Given the description of an element on the screen output the (x, y) to click on. 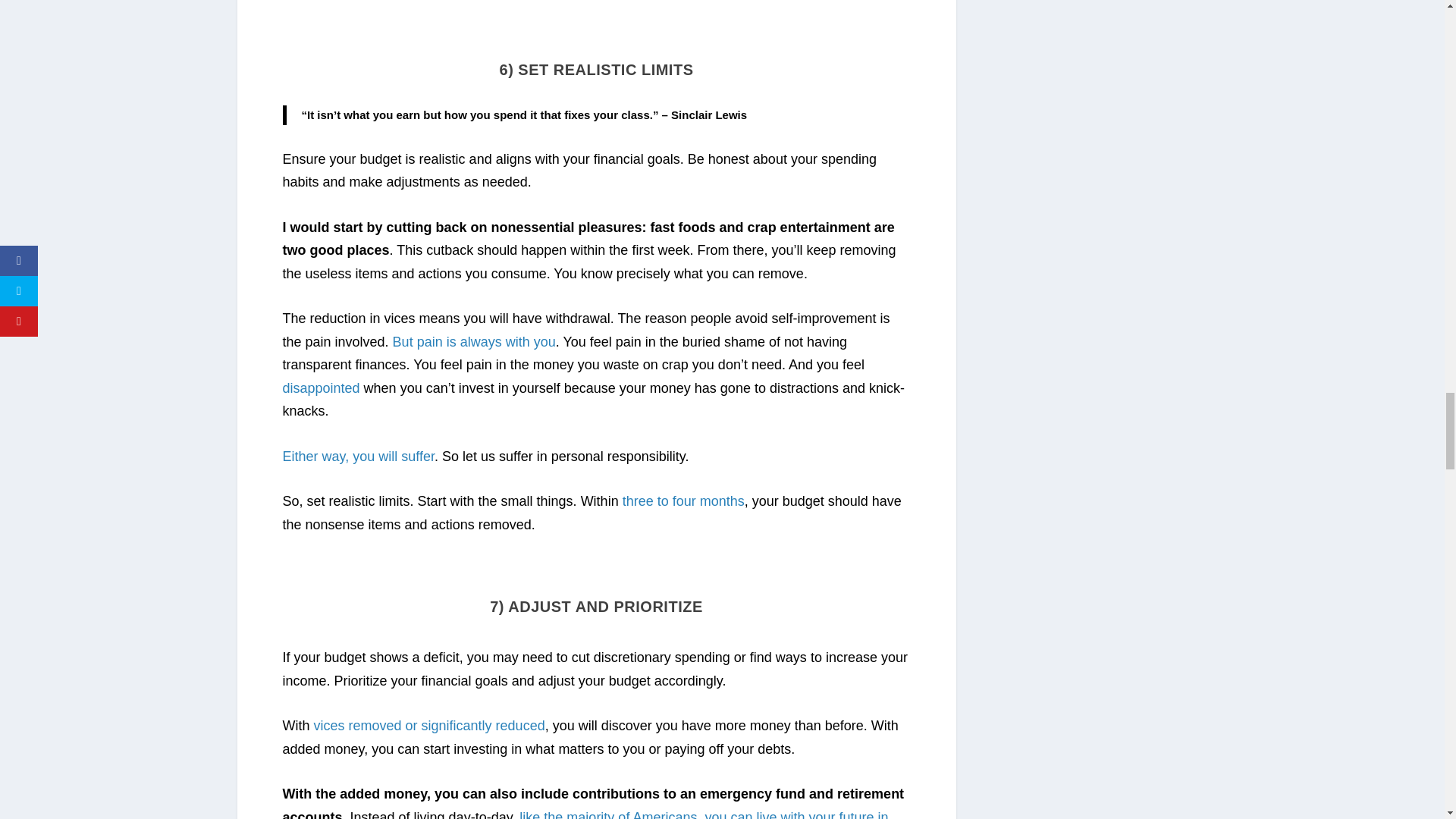
three to four months (683, 500)
But pain is always with you (474, 341)
like the majority of Americans (608, 814)
Either way, you will suffer (357, 456)
you can live with your future in mind (585, 814)
vices removed or significantly reduced (429, 725)
disappointed (320, 387)
